Given the description of an element on the screen output the (x, y) to click on. 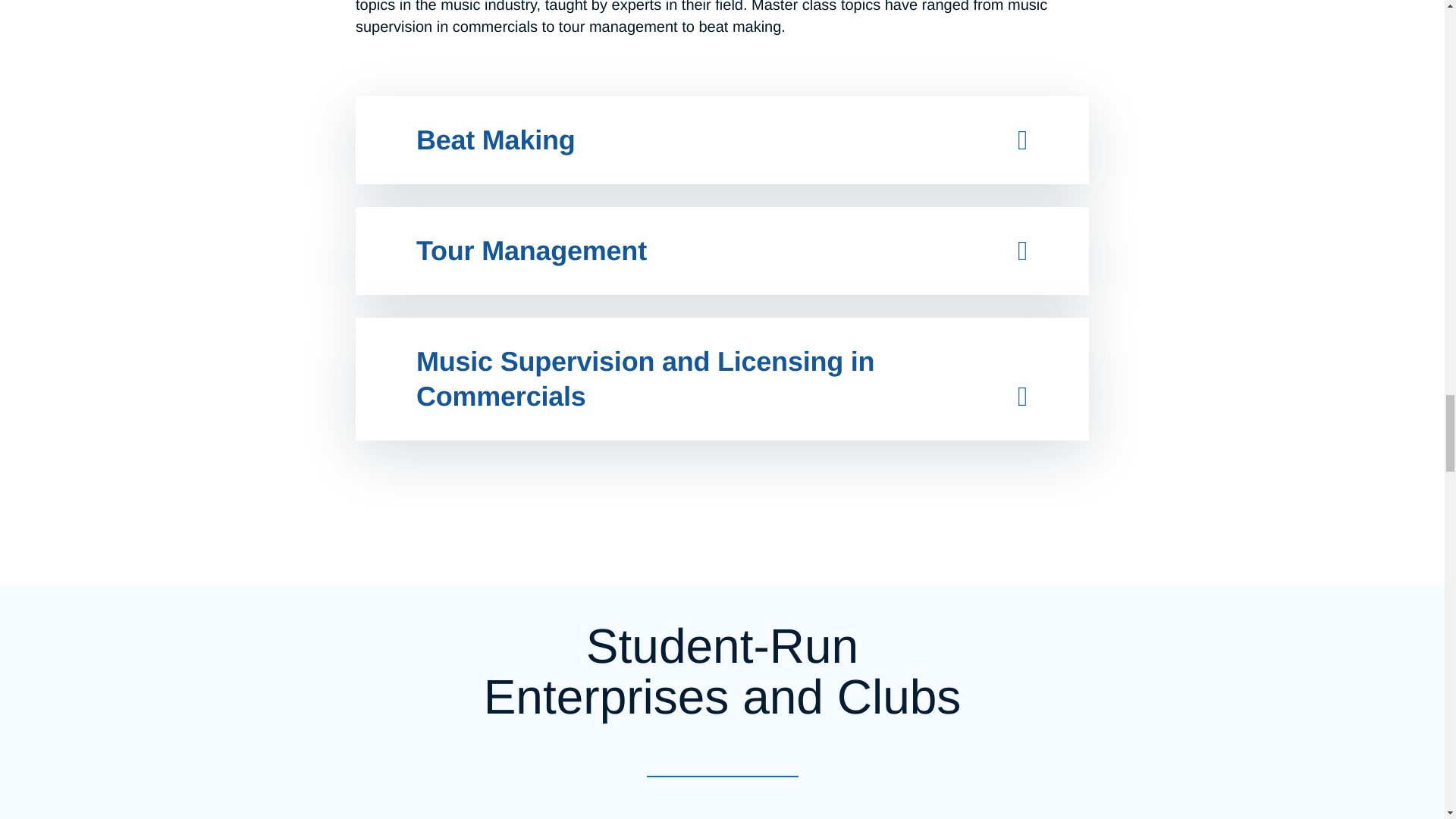
Music Supervision and Licensing in Commercials (645, 378)
Beat Making (495, 139)
Tour Management (531, 250)
